Given the description of an element on the screen output the (x, y) to click on. 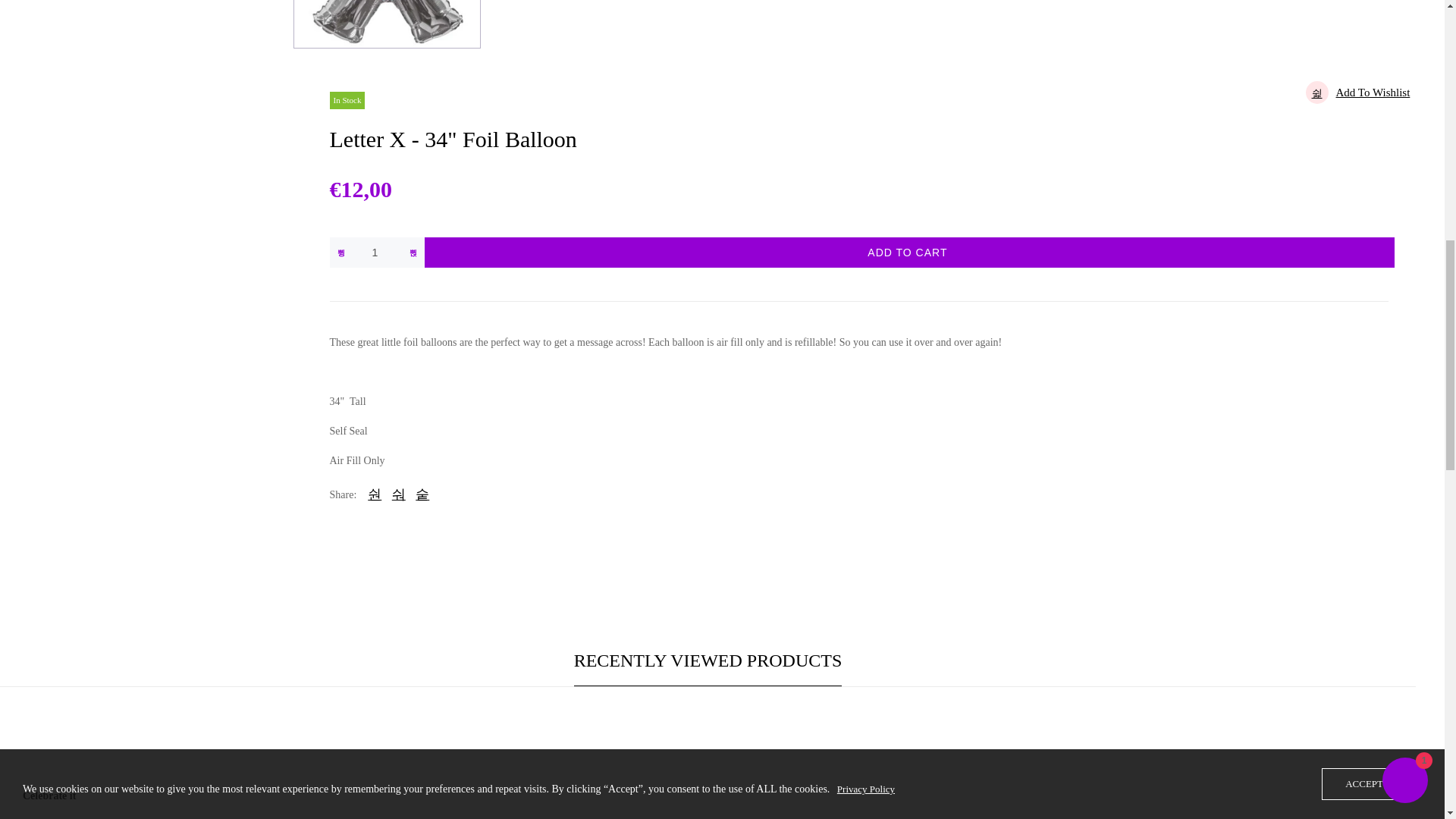
Twitter (374, 494)
Facebook (398, 494)
1 (374, 252)
vimeo (422, 494)
